Given the description of an element on the screen output the (x, y) to click on. 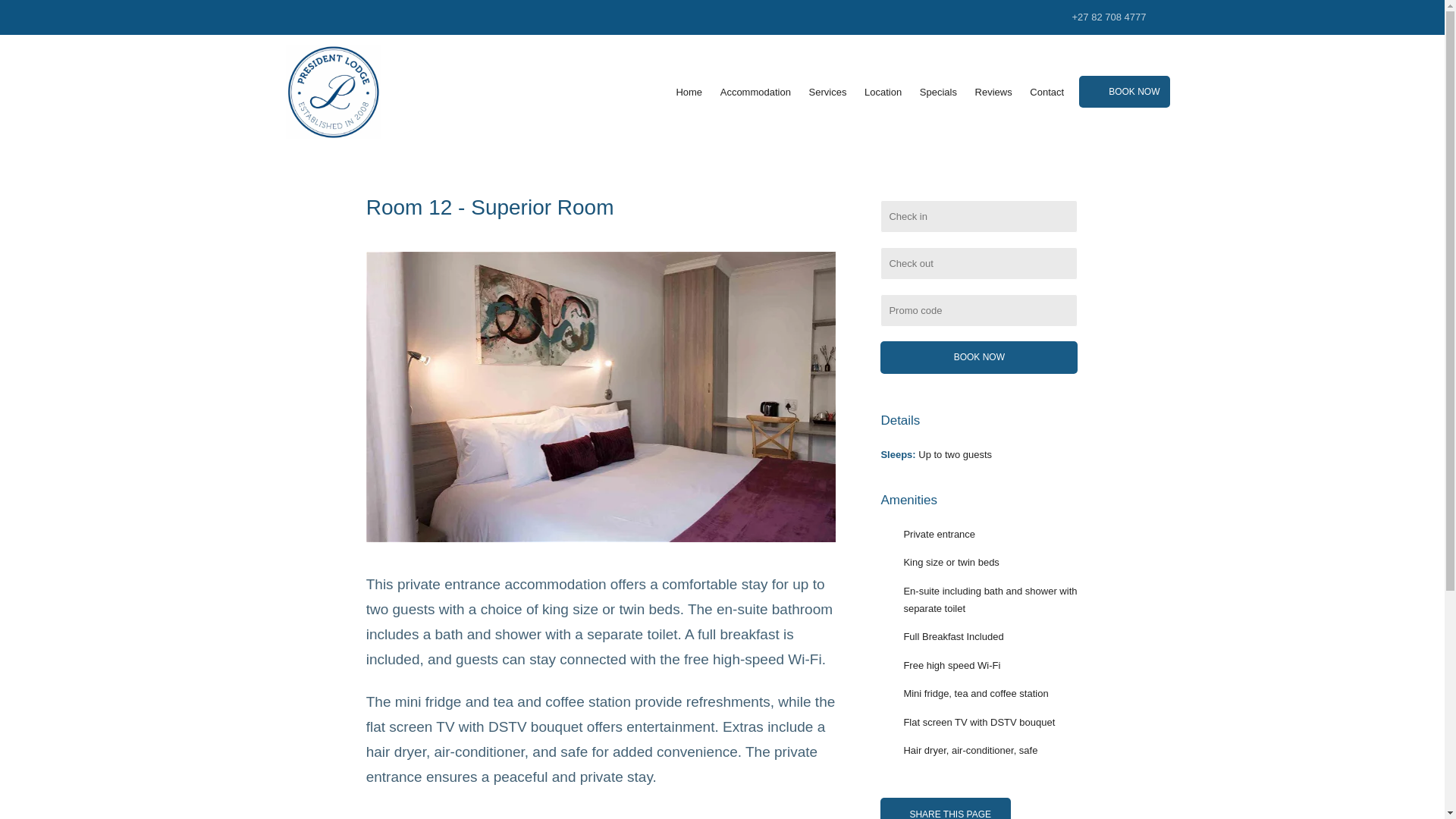
Services (828, 91)
Contact (1046, 91)
BOOK NOW (1123, 91)
Home (689, 91)
President Lodge (332, 91)
Accommodation (755, 91)
SHARE THIS PAGE (945, 808)
Reviews (994, 91)
Location (882, 91)
Book Now (978, 357)
